Given the description of an element on the screen output the (x, y) to click on. 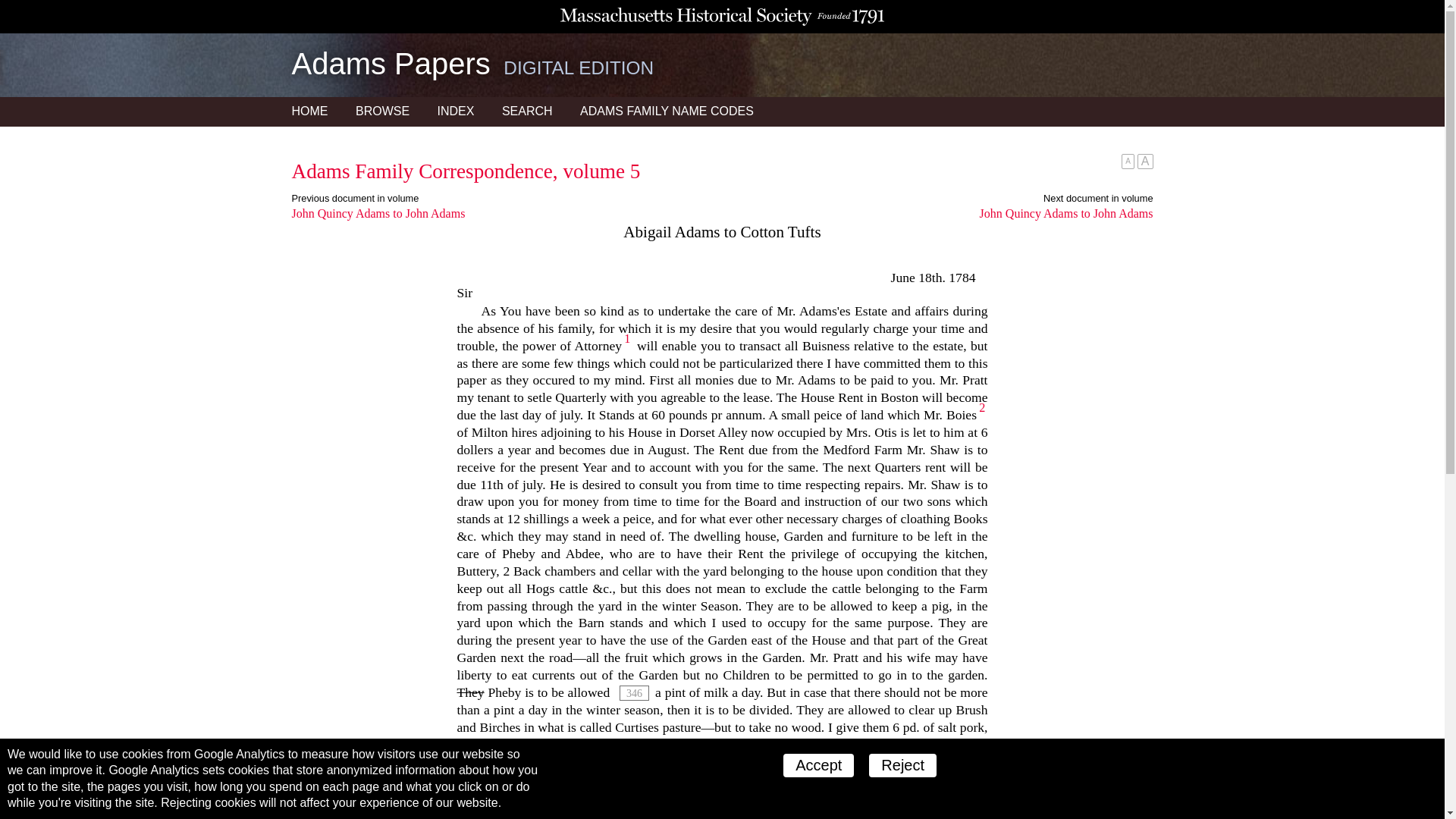
BROWSE (381, 111)
John Quincy Adams to John Adams (506, 213)
Accept (818, 765)
ADAMS FAMILY NAME CODES (666, 111)
Adams Family Correspondence, volume 5 (465, 170)
HOME (309, 111)
Reject (902, 765)
John Quincy Adams to John Adams (937, 213)
